Given the description of an element on the screen output the (x, y) to click on. 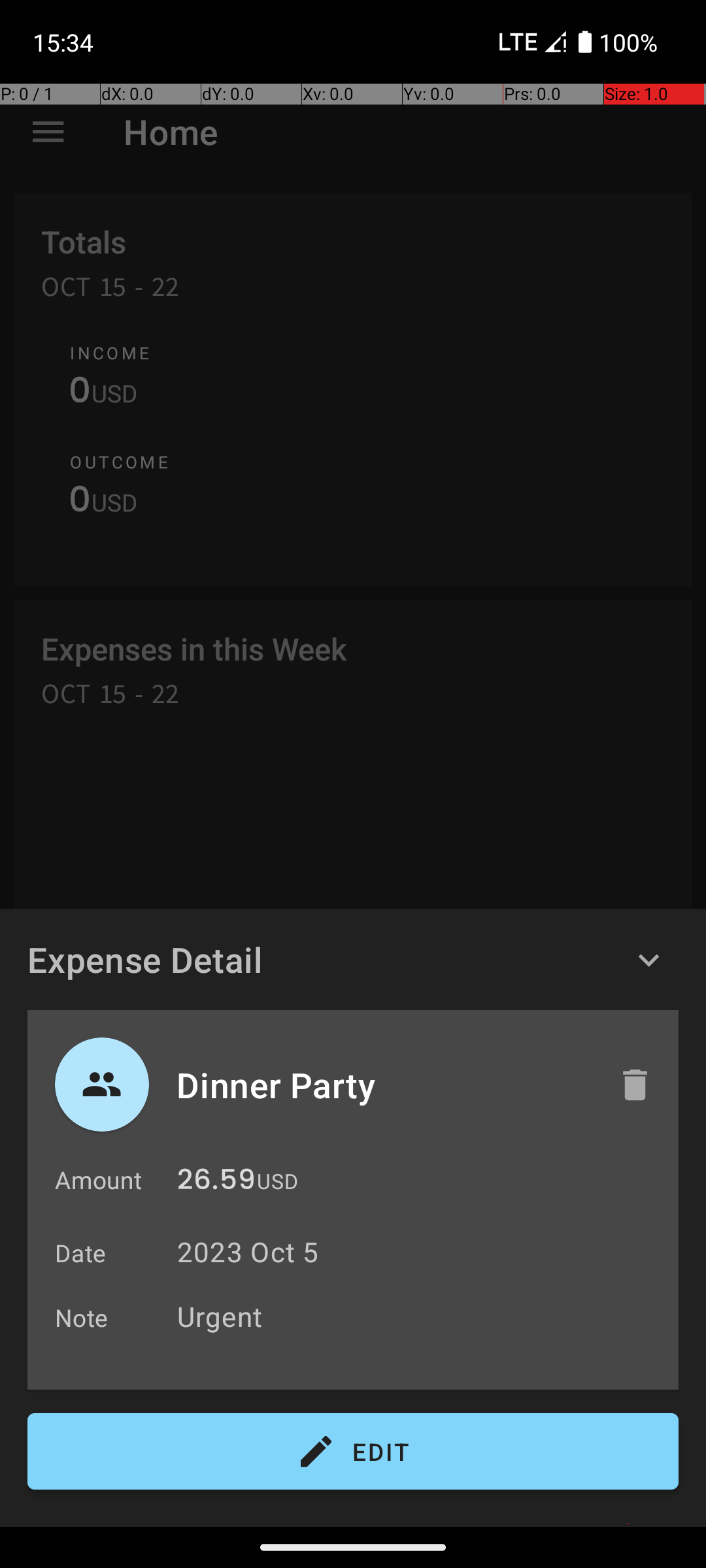
Dinner Party Element type: android.widget.TextView (383, 1084)
26.59 Element type: android.widget.TextView (216, 1182)
2023 Oct 5 Element type: android.widget.TextView (247, 1251)
